Given the description of an element on the screen output the (x, y) to click on. 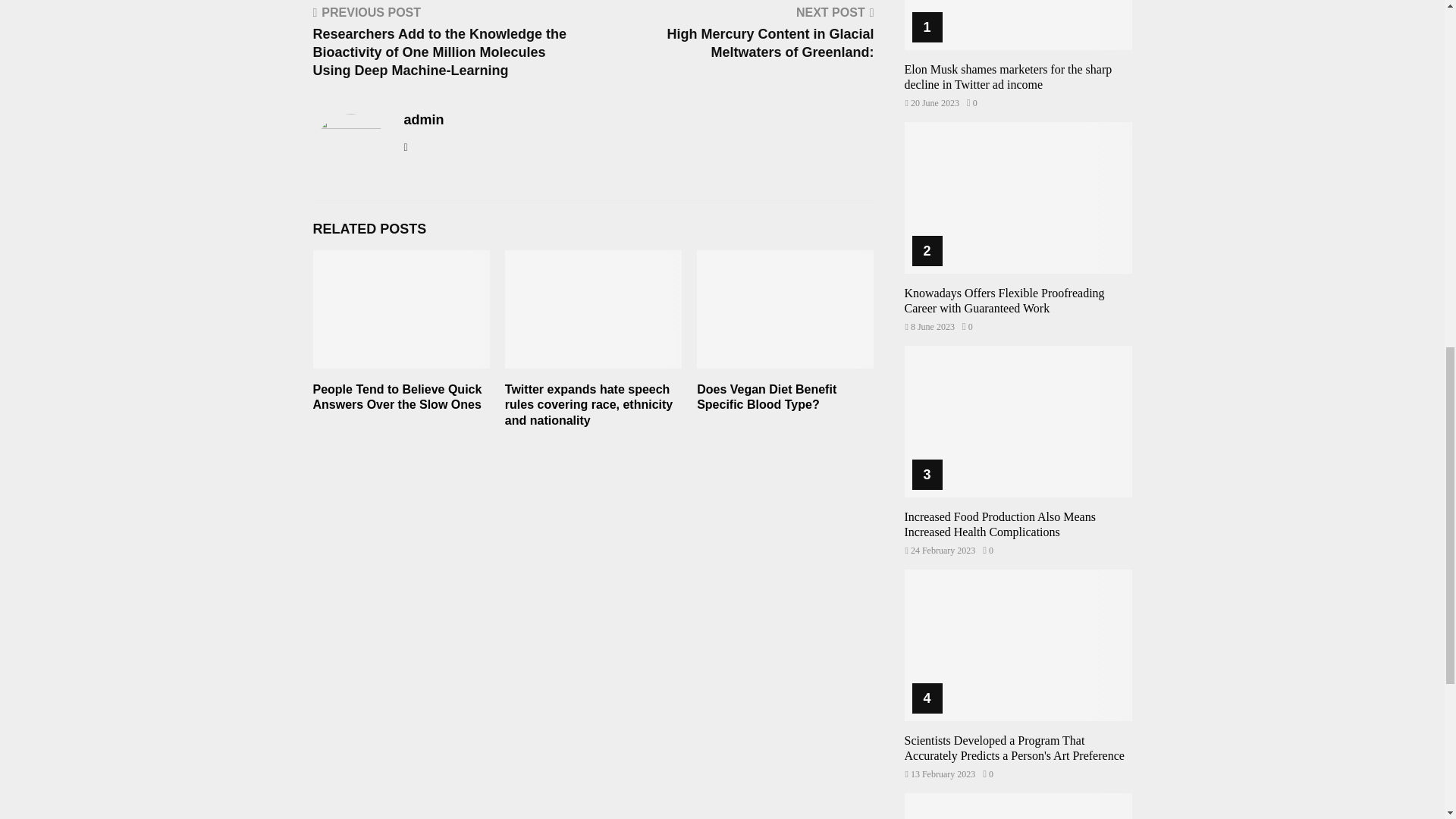
admin (423, 119)
Does Vegan Diet Benefit Specific Blood Type? (766, 397)
High Mercury Content in Glacial Meltwaters of Greenland: (769, 42)
People Tend to Believe Quick Answers Over the Slow Ones (397, 397)
